Given the description of an element on the screen output the (x, y) to click on. 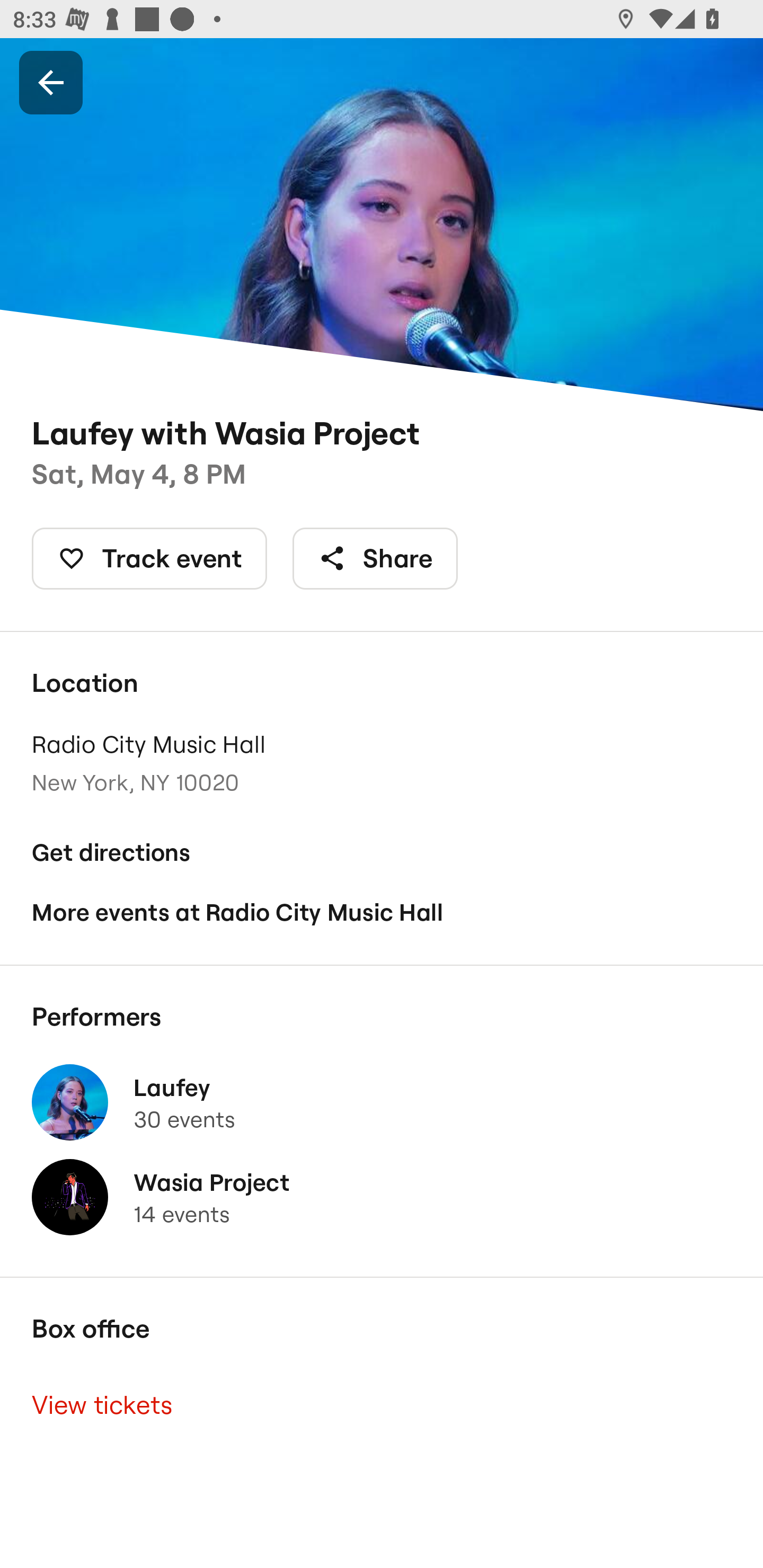
Back (50, 81)
Track event (149, 557)
Share (374, 557)
Get directions (381, 852)
More events at Radio City Music Hall (381, 912)
Laufey 30 events (381, 1102)
Wasia Project 14 events (381, 1196)
View tickets (381, 1405)
